Given the description of an element on the screen output the (x, y) to click on. 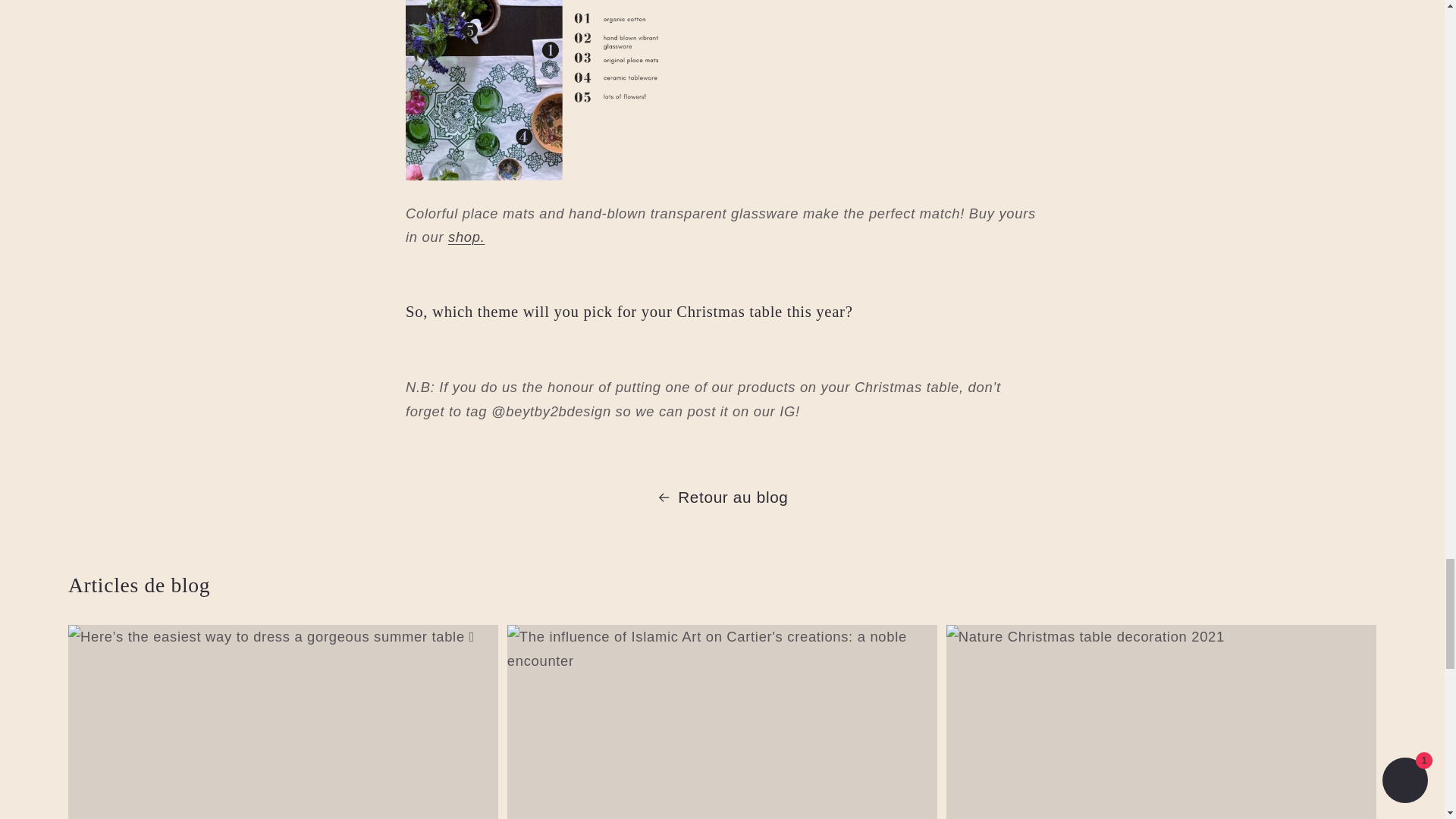
shop. (466, 236)
shop placemats (466, 236)
